Given the description of an element on the screen output the (x, y) to click on. 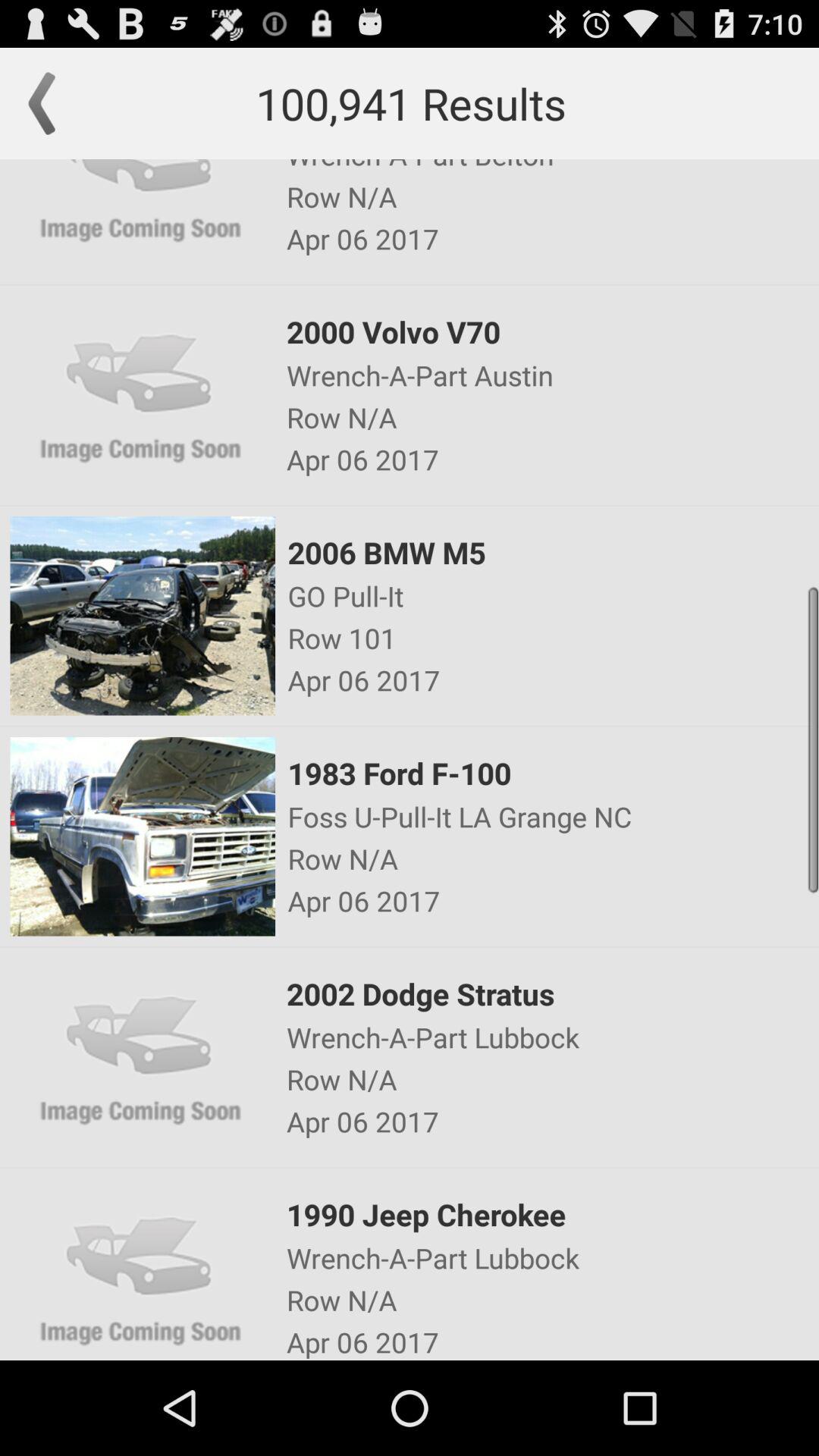
press icon below the go pull-it item (551, 637)
